Given the description of an element on the screen output the (x, y) to click on. 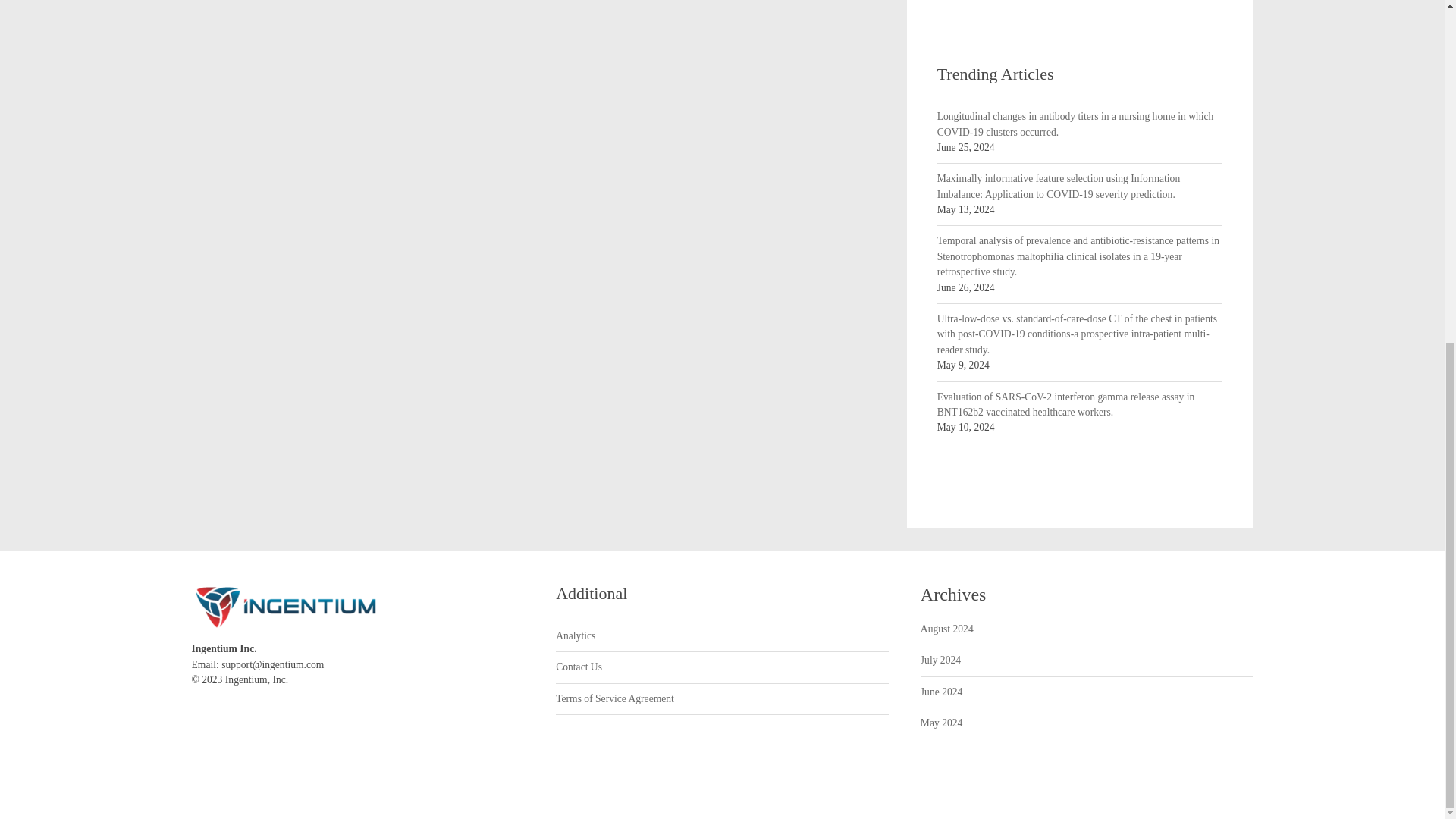
Contact Us (579, 667)
July 2024 (940, 660)
Terms of Service Agreement (615, 698)
Analytics (575, 635)
August 2024 (947, 629)
